Given the description of an element on the screen output the (x, y) to click on. 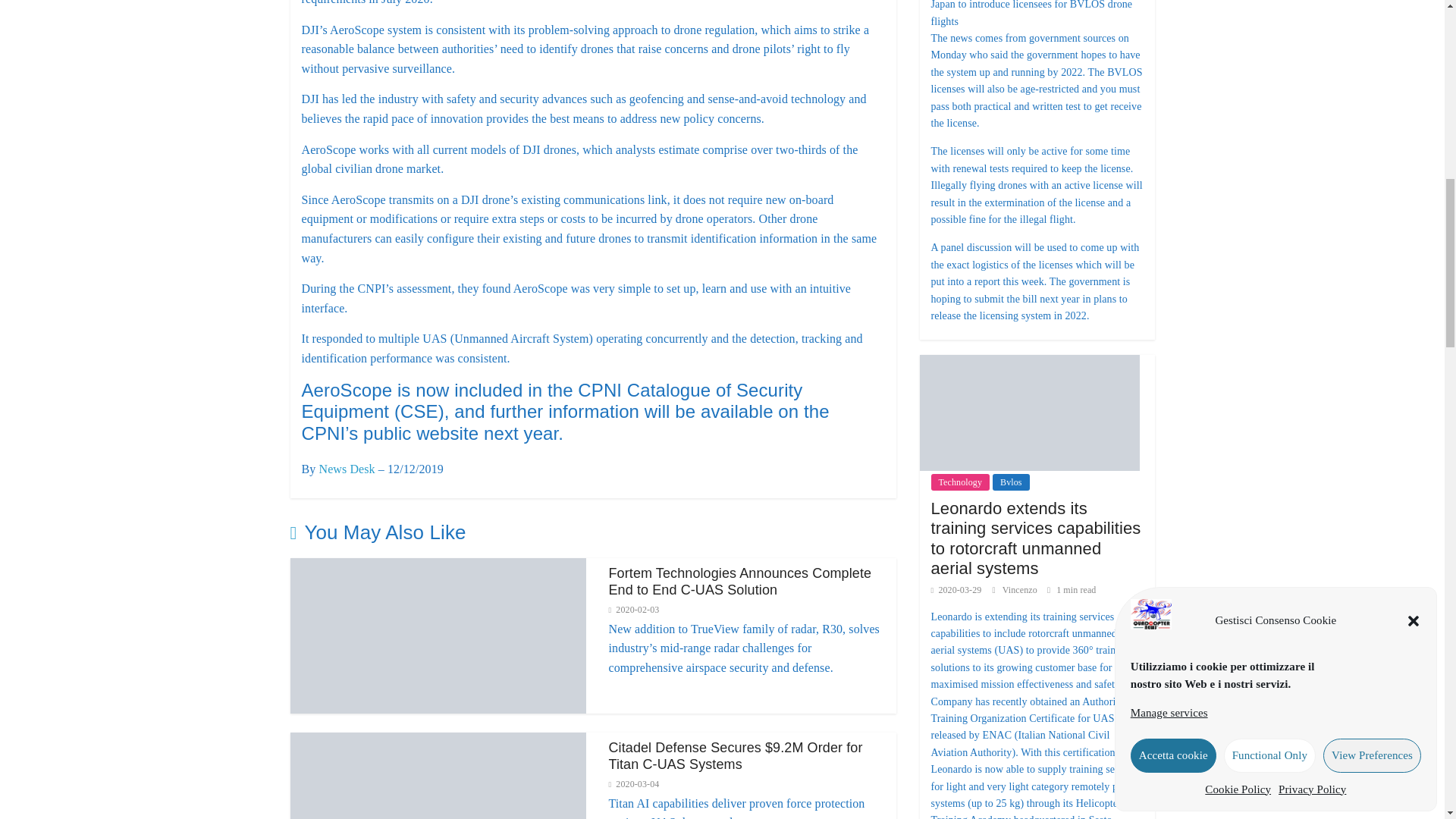
7:20 PM (633, 609)
